Given the description of an element on the screen output the (x, y) to click on. 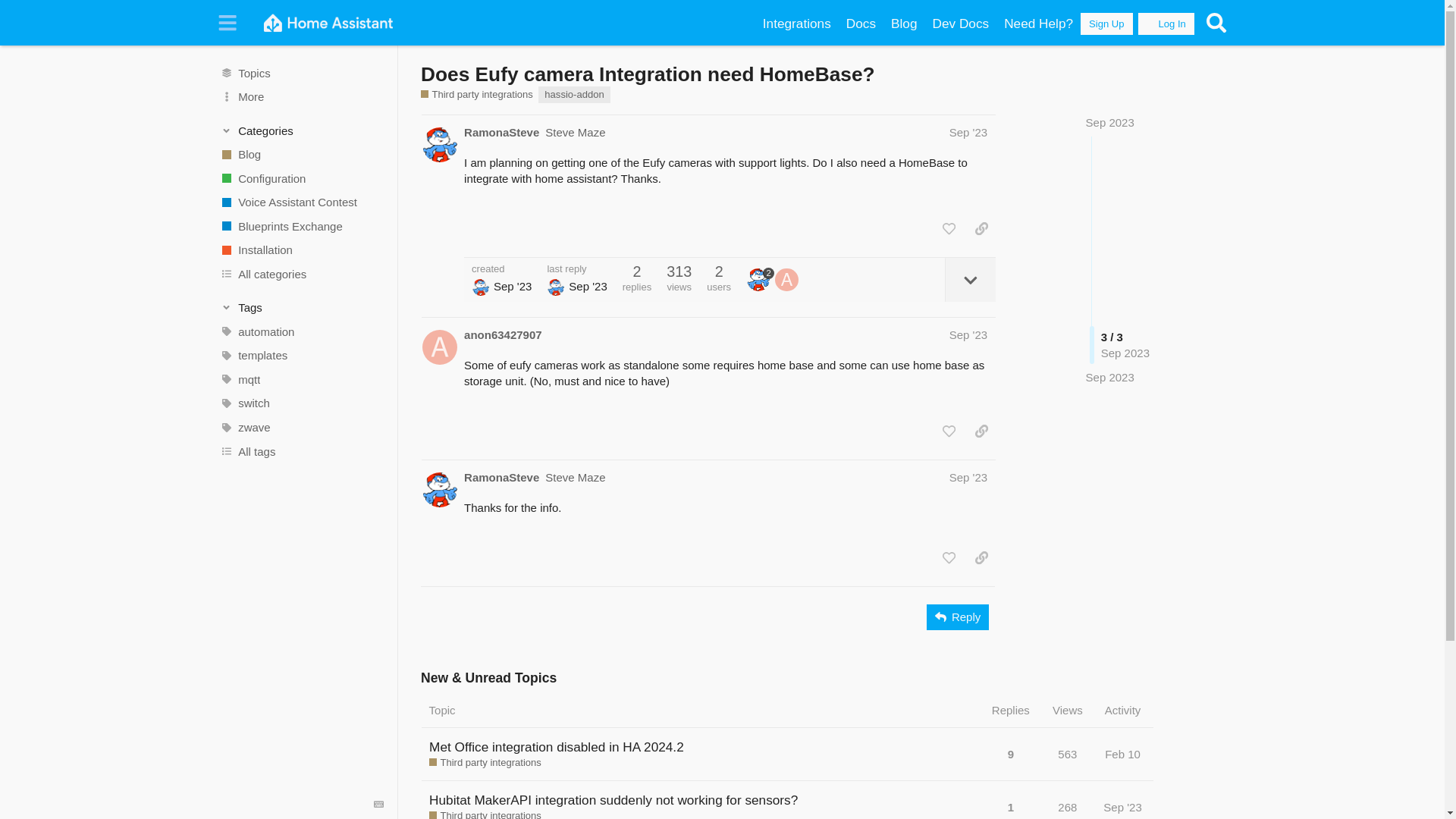
Sign Up (1106, 24)
automation (301, 331)
zwave (301, 427)
All tags (301, 450)
All categories (301, 274)
hassio-addon (574, 94)
Docs (860, 23)
Integrations (796, 23)
Does Eufy camera Integration need HomeBase? (647, 74)
All topics (301, 72)
Sep 2023 (1110, 122)
Tags (301, 307)
Topics (301, 72)
Sep '23 (968, 132)
